Given the description of an element on the screen output the (x, y) to click on. 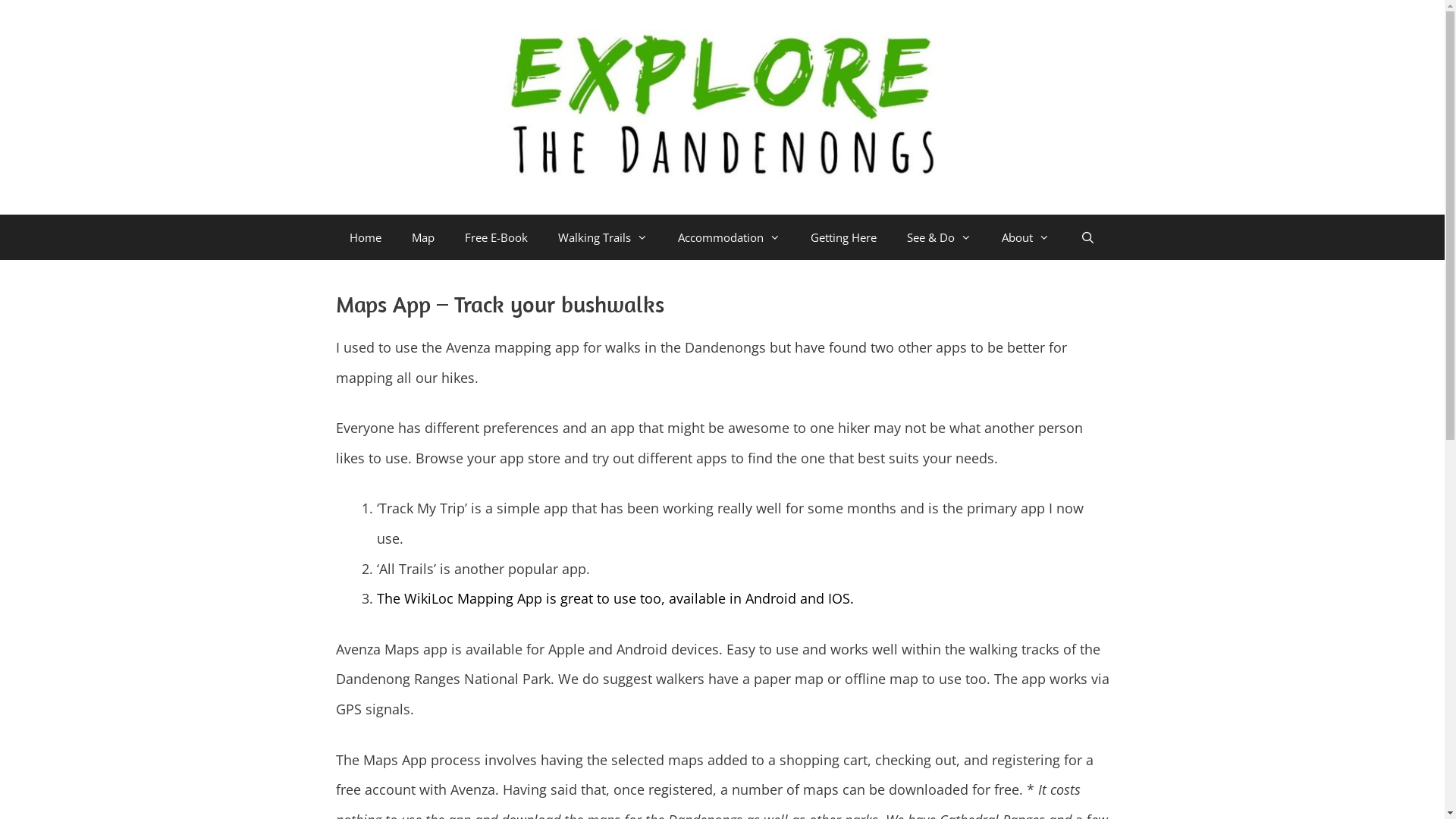
Accommodation Element type: text (728, 237)
Free E-Book Element type: text (495, 237)
See & Do Element type: text (938, 237)
Walking Trails Element type: text (602, 237)
Home Element type: text (365, 237)
Map Element type: text (422, 237)
Getting Here Element type: text (843, 237)
About Element type: text (1025, 237)
